Given the description of an element on the screen output the (x, y) to click on. 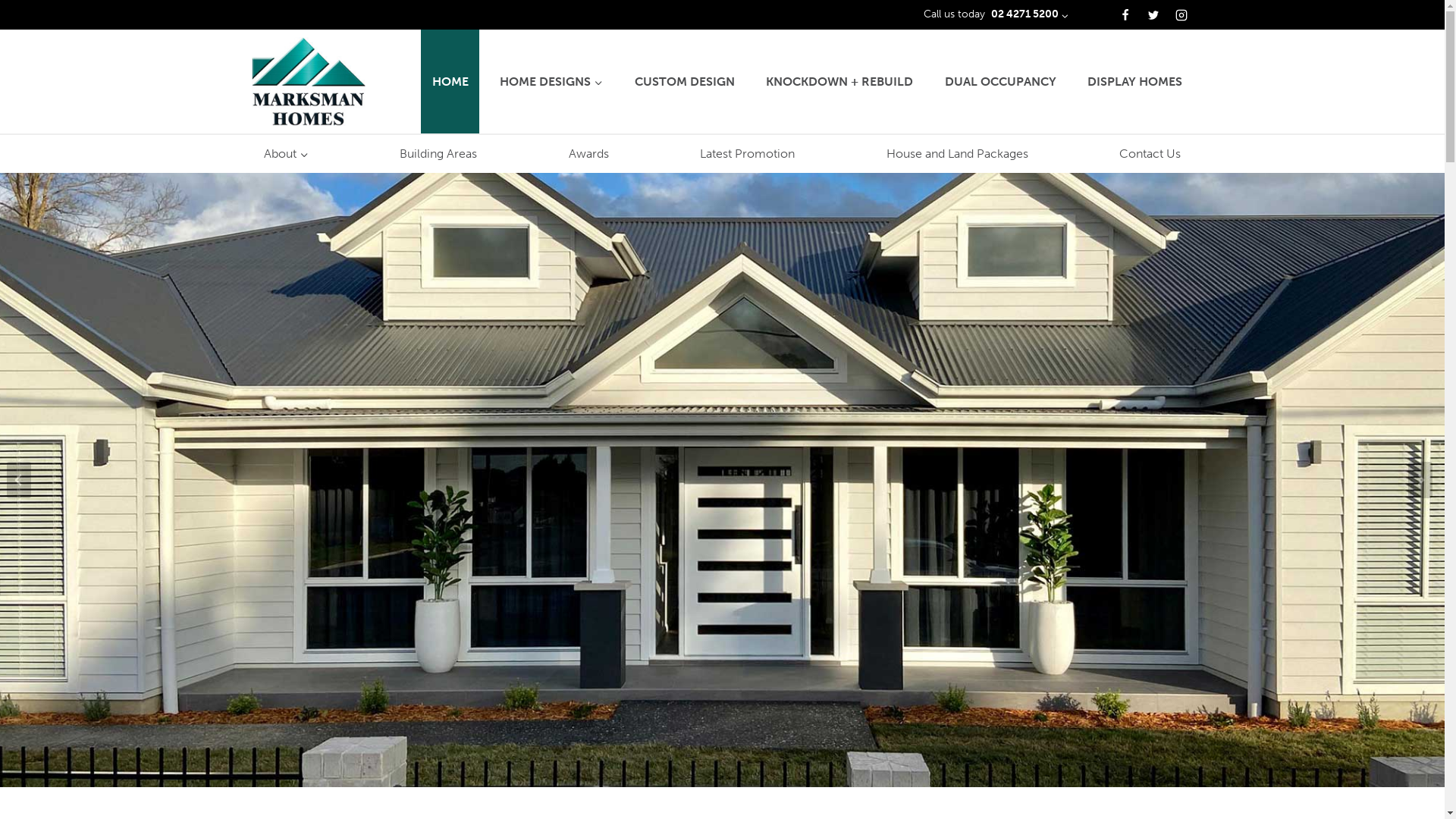
House and Land Packages Element type: text (957, 153)
HOME Element type: text (449, 81)
Contact Us Element type: text (1149, 153)
DISPLAY HOMES Element type: text (1134, 81)
Latest Promotion Element type: text (746, 153)
About Element type: text (285, 153)
KNOCKDOWN + REBUILD Element type: text (839, 81)
CUSTOM DESIGN Element type: text (684, 81)
DUAL OCCUPANCY Element type: text (999, 81)
Call us today  02 4271 5200 Element type: text (995, 14)
Awards Element type: text (588, 153)
Building Areas Element type: text (438, 153)
HOME DESIGNS Element type: text (551, 81)
